Given the description of an element on the screen output the (x, y) to click on. 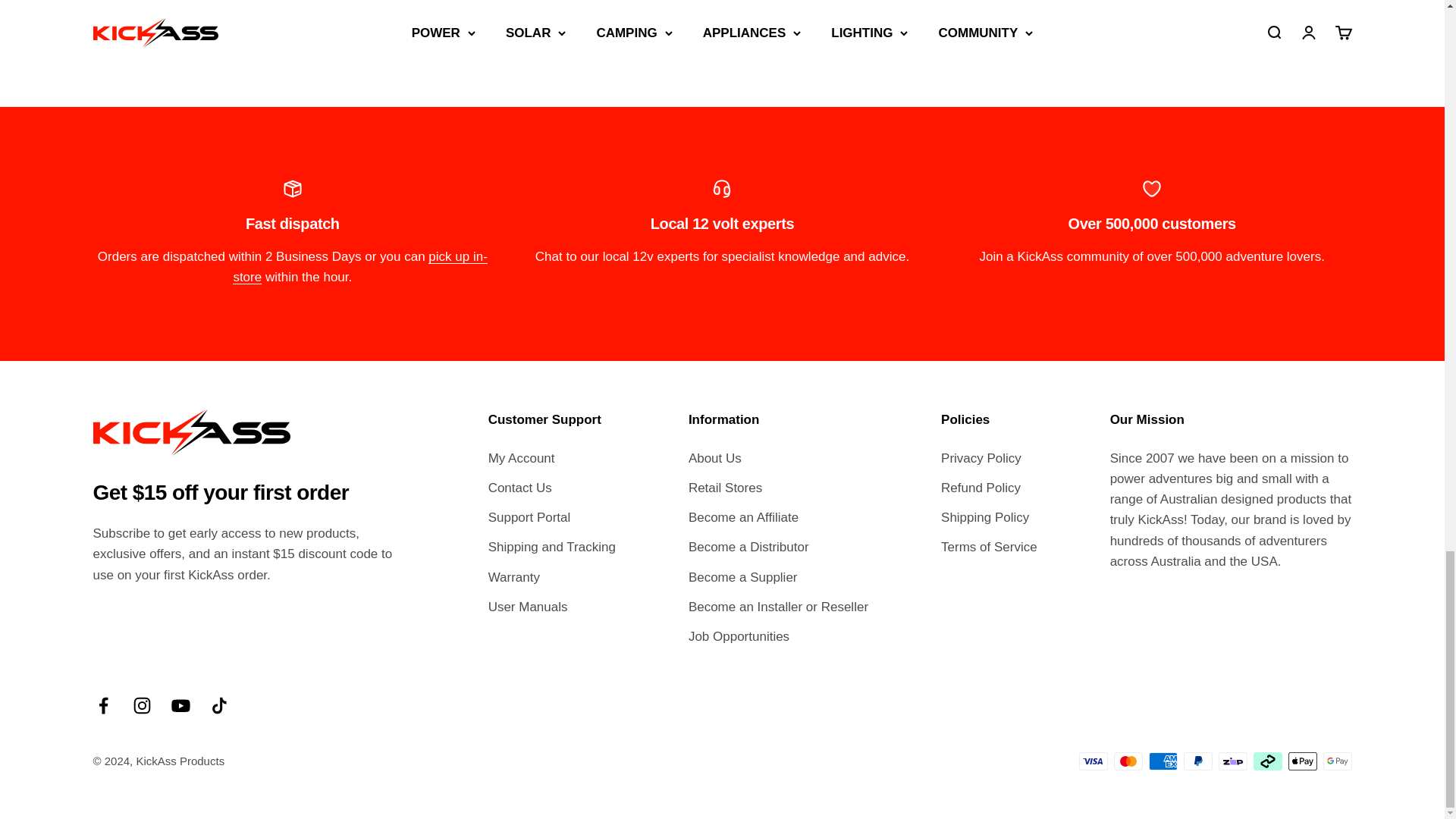
Retail Stores (359, 266)
